Given the description of an element on the screen output the (x, y) to click on. 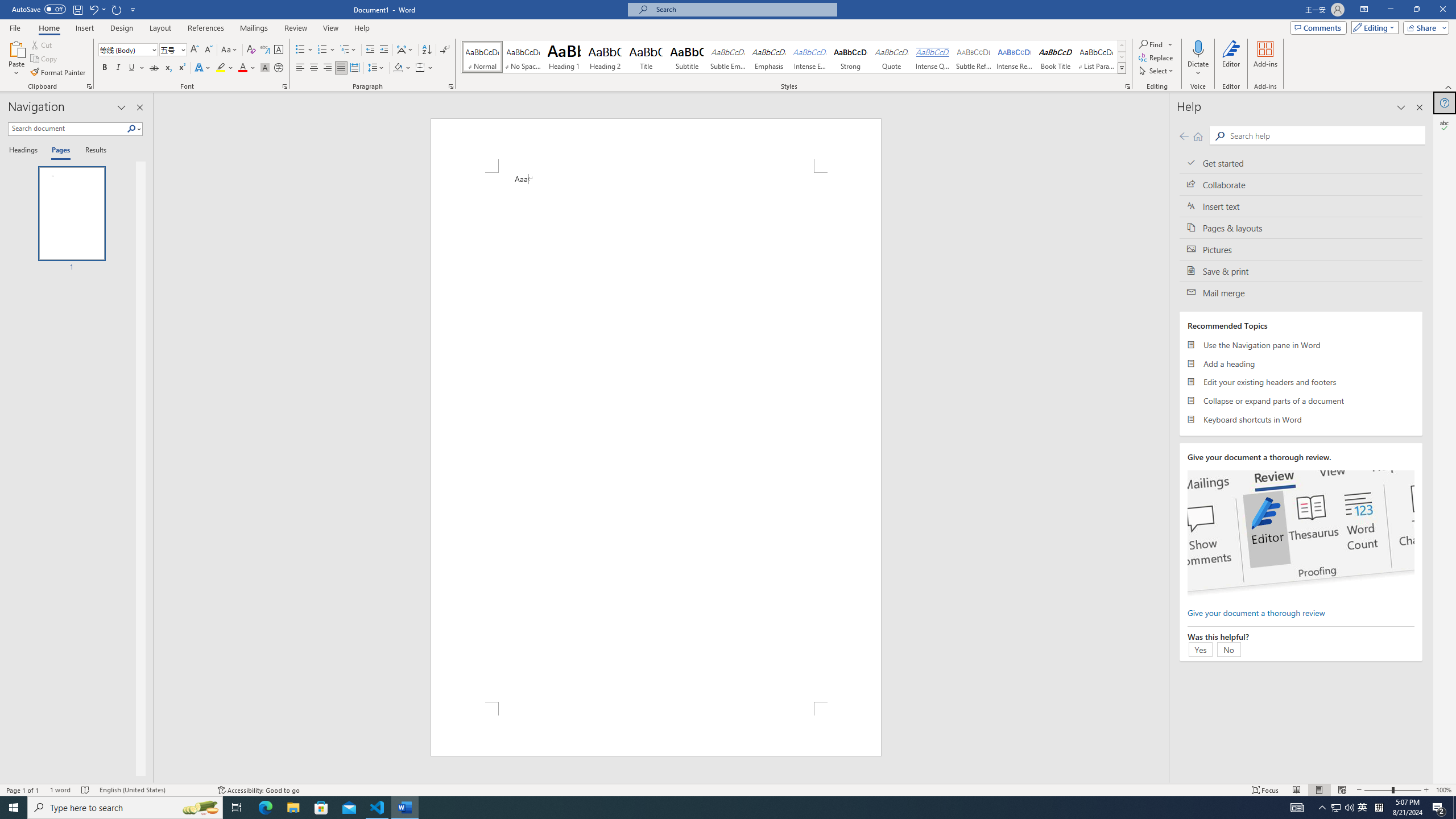
Edit your existing headers and footers (1300, 381)
Pages & layouts (1300, 228)
Collaborate (1300, 184)
